Given the description of an element on the screen output the (x, y) to click on. 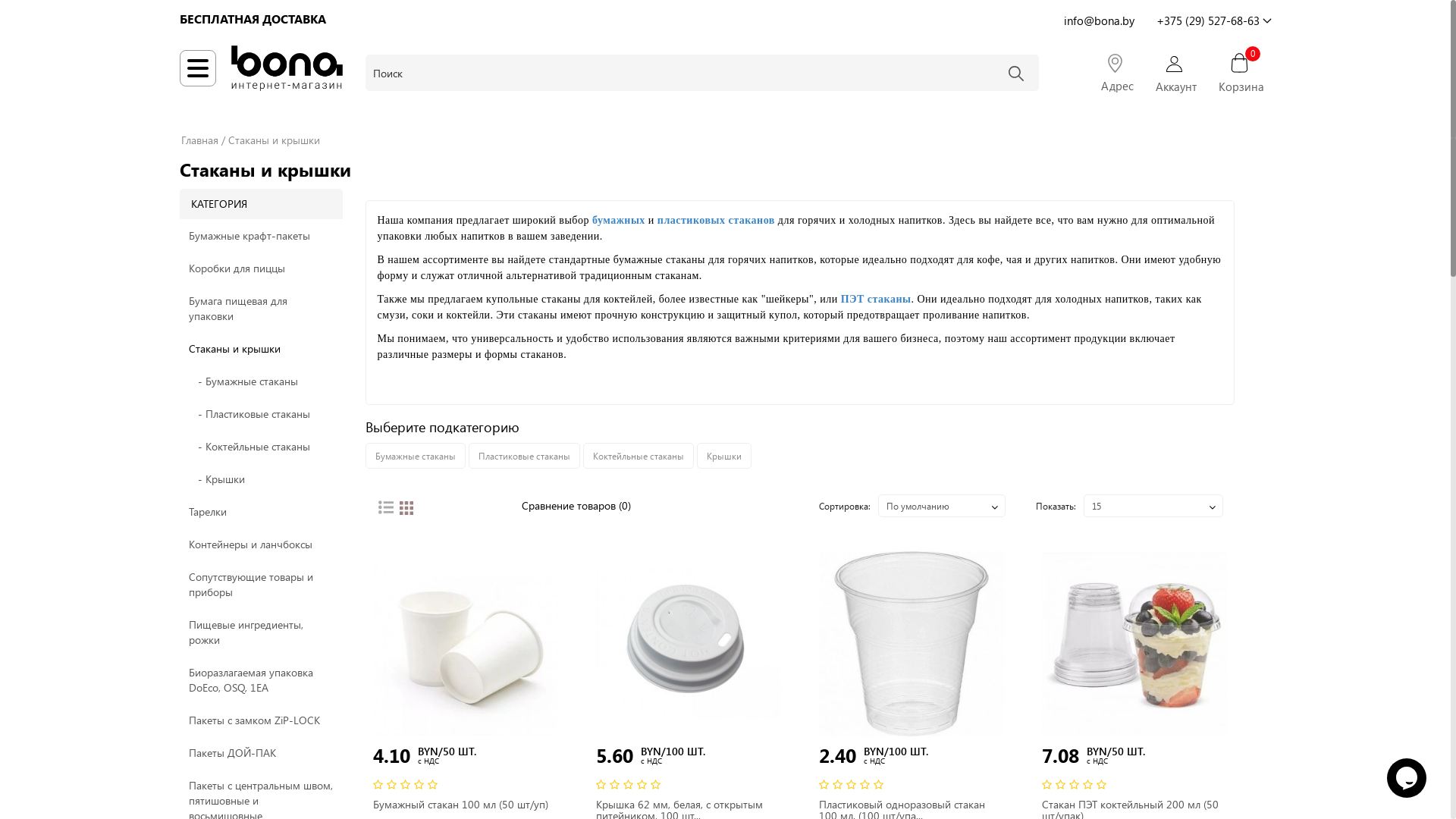
+375 (29) 527-68-63 Element type: text (1212, 18)
info@bona.by Element type: text (1098, 18)
